Given the description of an element on the screen output the (x, y) to click on. 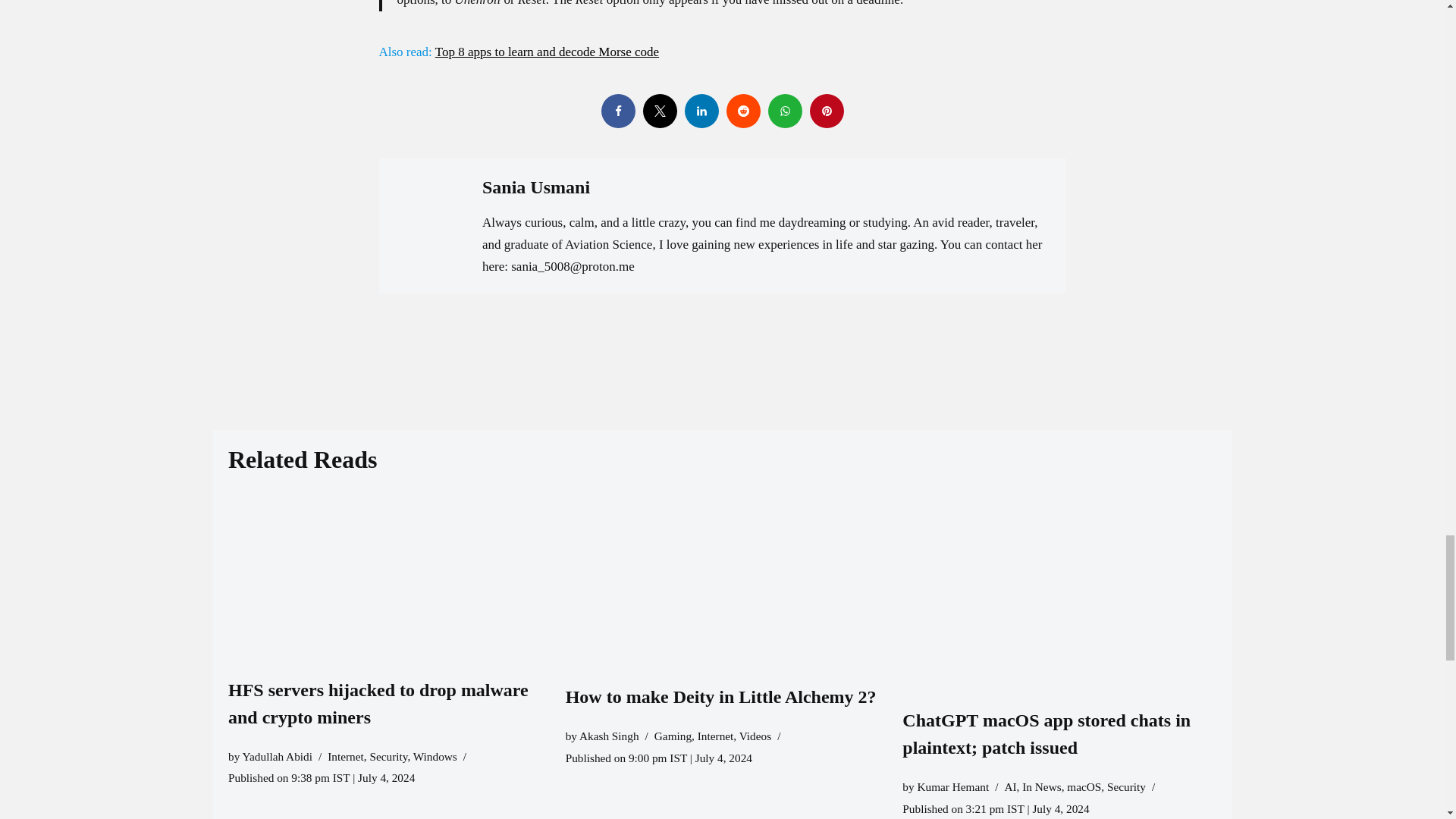
Twitter (660, 110)
Reddit (743, 110)
Facebook (616, 110)
Whatsapp (784, 110)
Pinterest (826, 110)
Linkedin (700, 110)
